Given the description of an element on the screen output the (x, y) to click on. 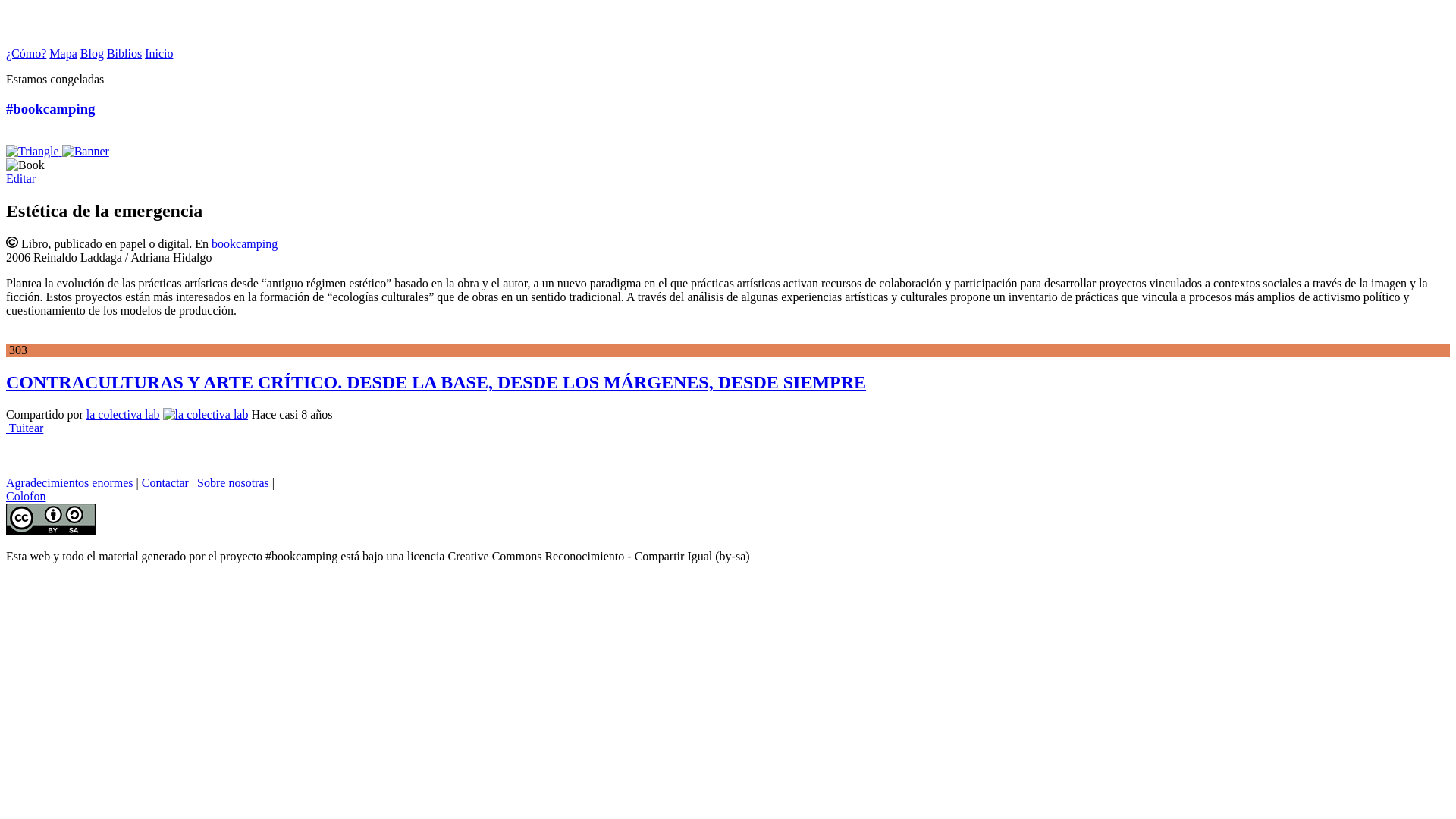
bookcamping Element type: text (244, 243)
Agradecimientos enormes Element type: text (69, 482)
Inicio Element type: text (158, 53)
 Tuitear Element type: text (24, 427)
Sobre nosotras Element type: text (233, 482)
Blog Element type: text (91, 53)
#bookcamping
  Element type: text (727, 129)
Biblios Element type: text (123, 53)
Mapa Element type: text (62, 53)
Editar Element type: text (20, 178)
Colofon Element type: text (25, 495)
Contactar Element type: text (164, 482)
la colectiva lab Element type: text (123, 413)
